Given the description of an element on the screen output the (x, y) to click on. 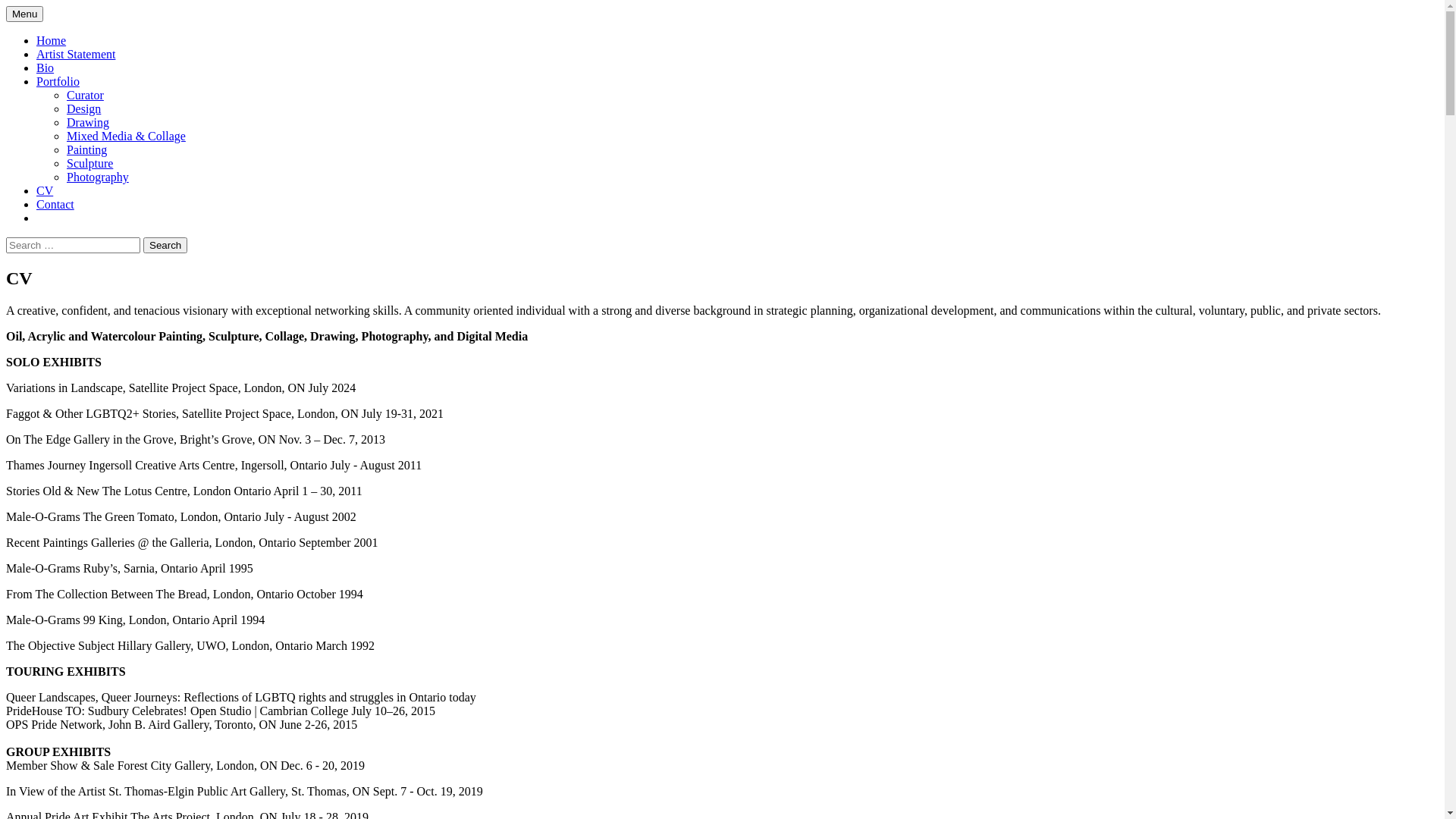
Search Element type: text (165, 245)
Curator Element type: text (84, 94)
Design Element type: text (83, 108)
Drawing Element type: text (87, 122)
Home Element type: text (50, 40)
Photography Element type: text (97, 176)
Bio Element type: text (44, 67)
Contact Element type: text (55, 203)
Artist Statement Element type: text (75, 53)
CV Element type: text (44, 190)
Painting Element type: text (86, 149)
Menu Element type: text (24, 13)
Portfolio Element type: text (57, 81)
Mixed Media & Collage Element type: text (125, 135)
Skip to content Element type: text (42, 5)
Sculpture Element type: text (89, 162)
